Given the description of an element on the screen output the (x, y) to click on. 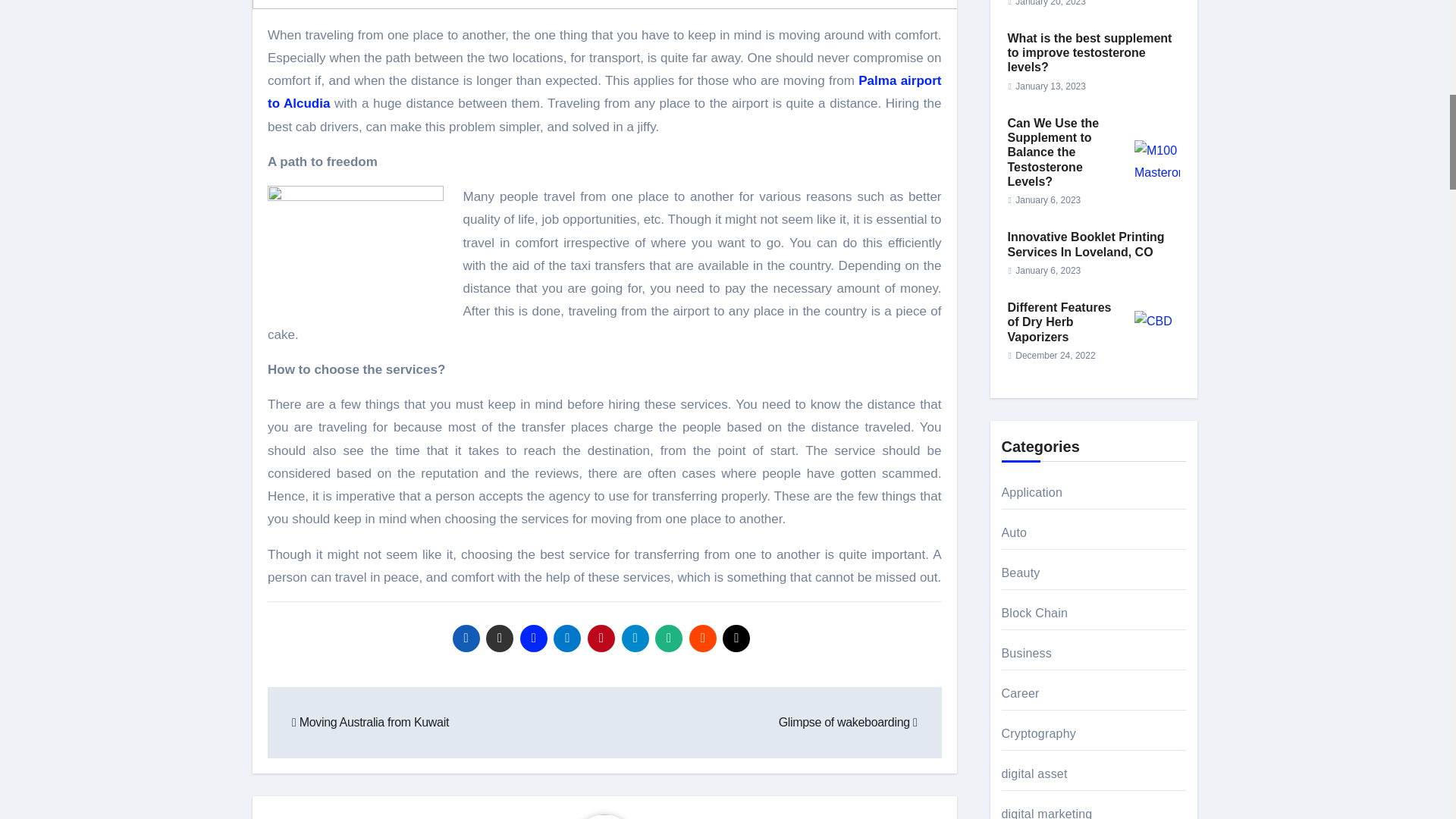
Glimpse of wakeboarding (847, 721)
Palma airport to Alcudia (604, 91)
Moving Australia from Kuwait (370, 721)
